Given the description of an element on the screen output the (x, y) to click on. 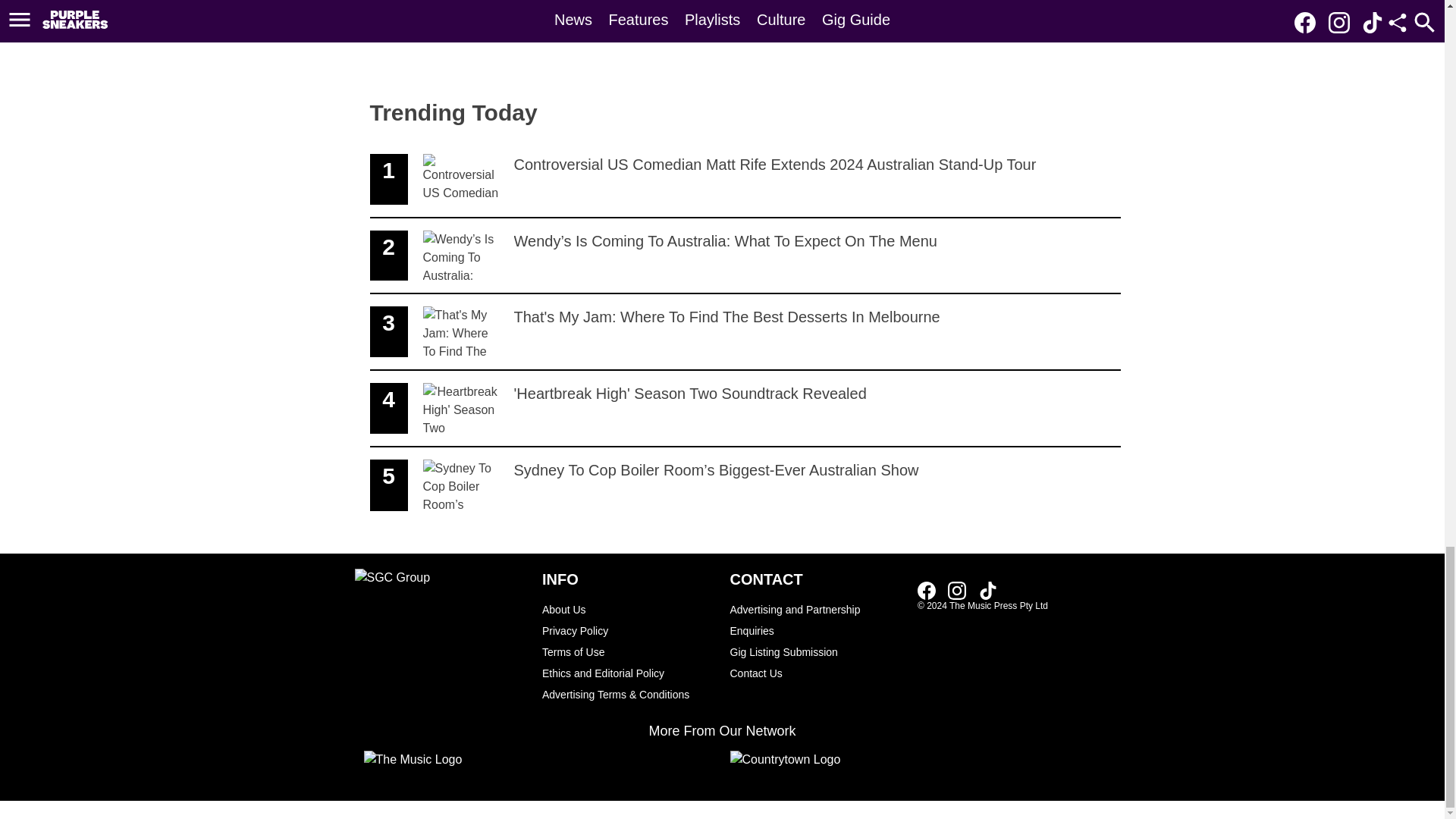
Contact Us (815, 672)
Link to our TikTok (987, 589)
Link to our Facebook (926, 590)
Ethics and Editorial Policy (627, 672)
About Us (627, 608)
Privacy Policy (627, 630)
Link to our TikTok (987, 590)
Advertising and Partnership Enquiries (815, 619)
Link to our Instagram (956, 590)
Gig Listing Submission (815, 651)
Link to our Instagram (961, 589)
Link to our Facebook (745, 409)
